Given the description of an element on the screen output the (x, y) to click on. 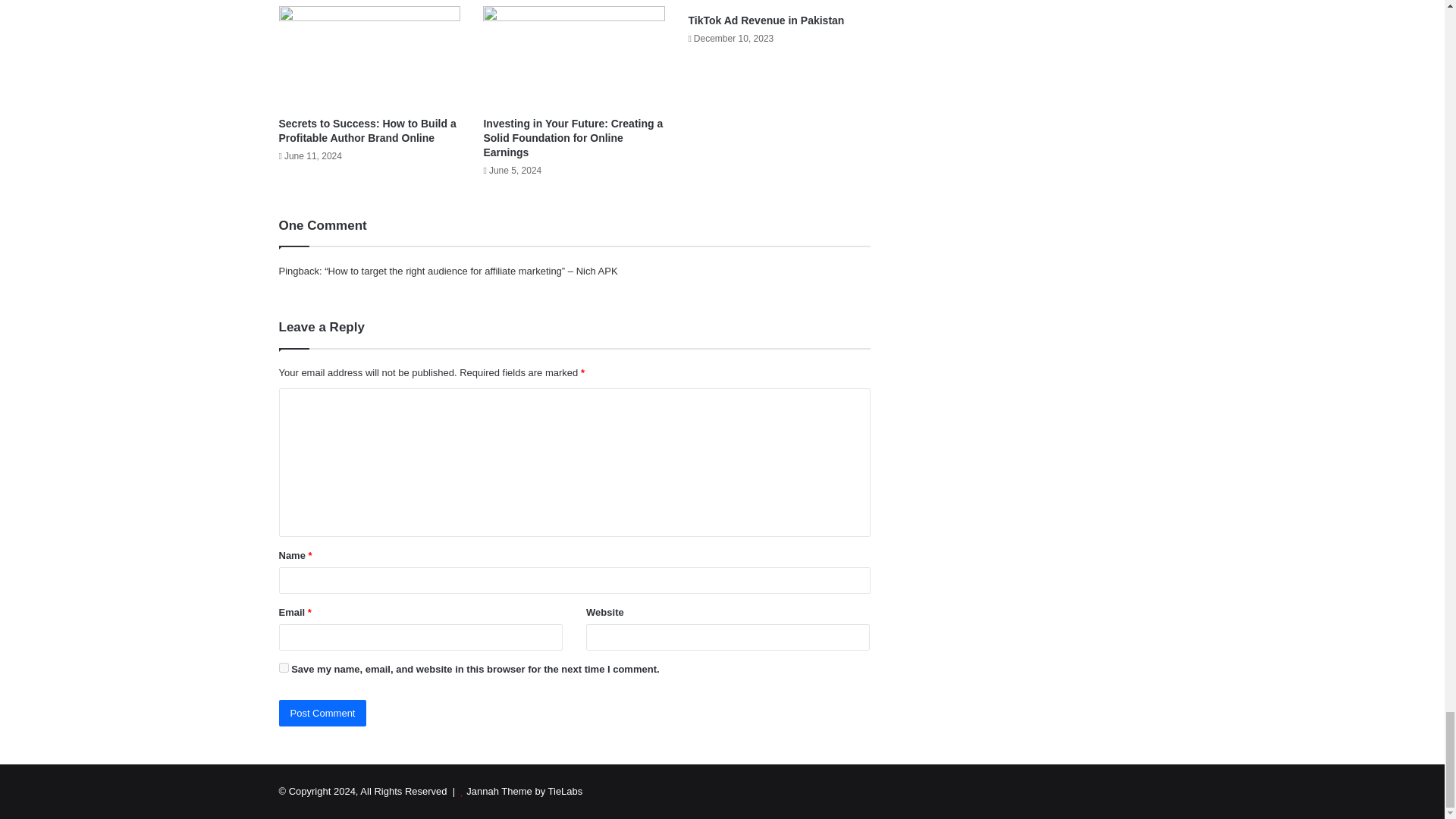
Post Comment (322, 713)
yes (283, 667)
